Given the description of an element on the screen output the (x, y) to click on. 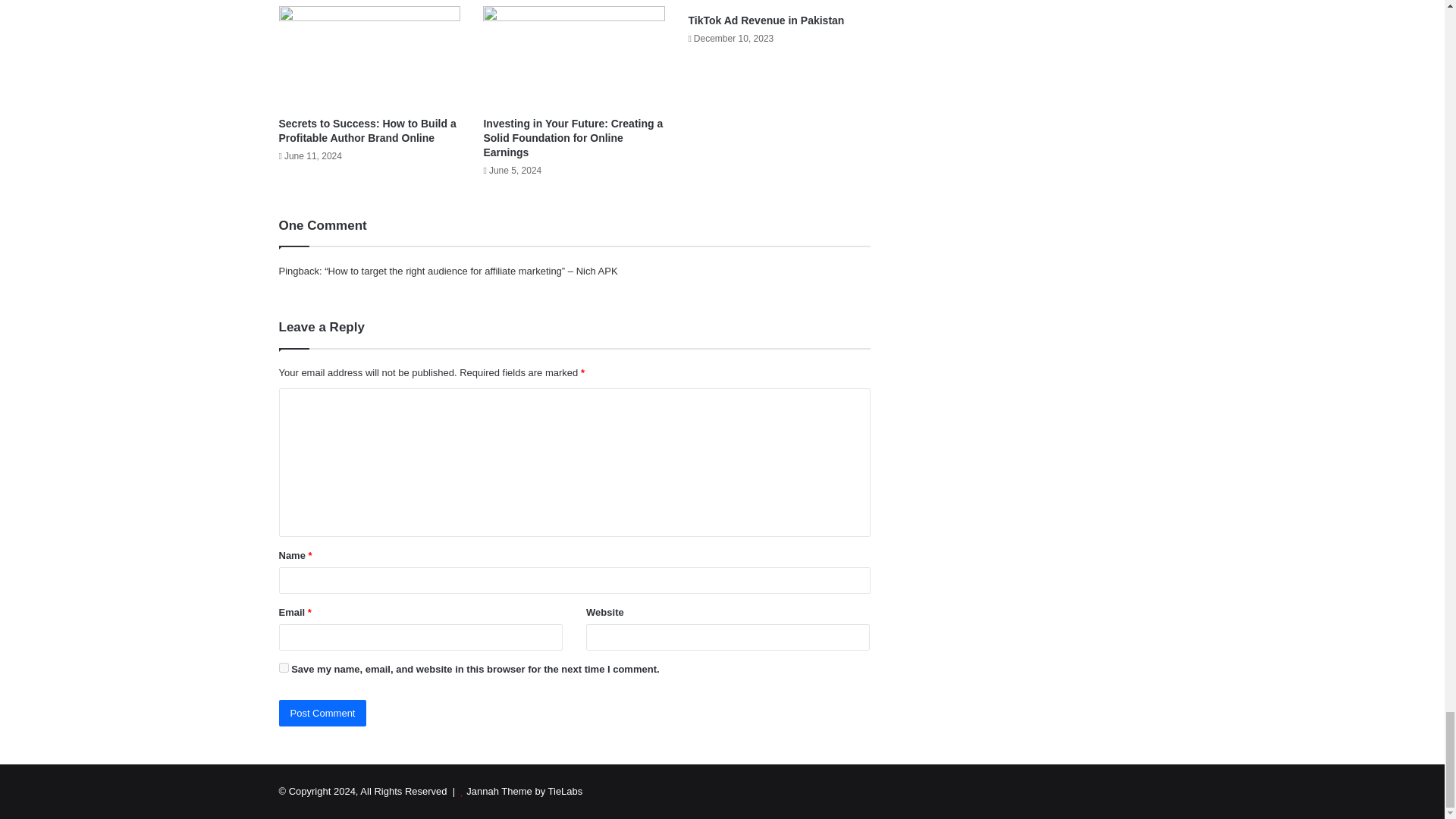
Post Comment (322, 713)
yes (283, 667)
